Given the description of an element on the screen output the (x, y) to click on. 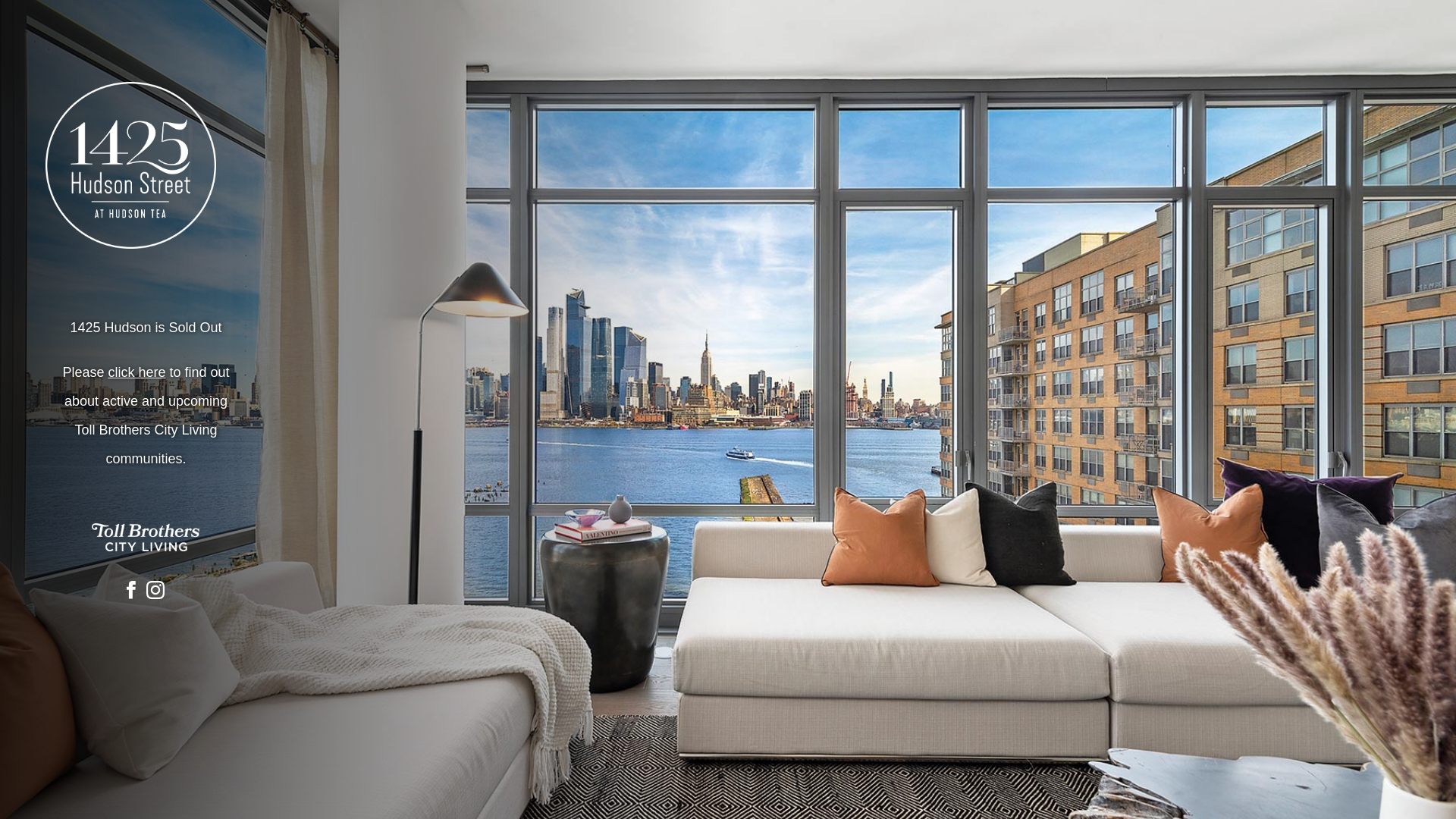
Visit our Instagram Page Element type: hover (155, 589)
Visit our Facebook Page Element type: hover (134, 589)
click here Element type: text (136, 371)
